Given the description of an element on the screen output the (x, y) to click on. 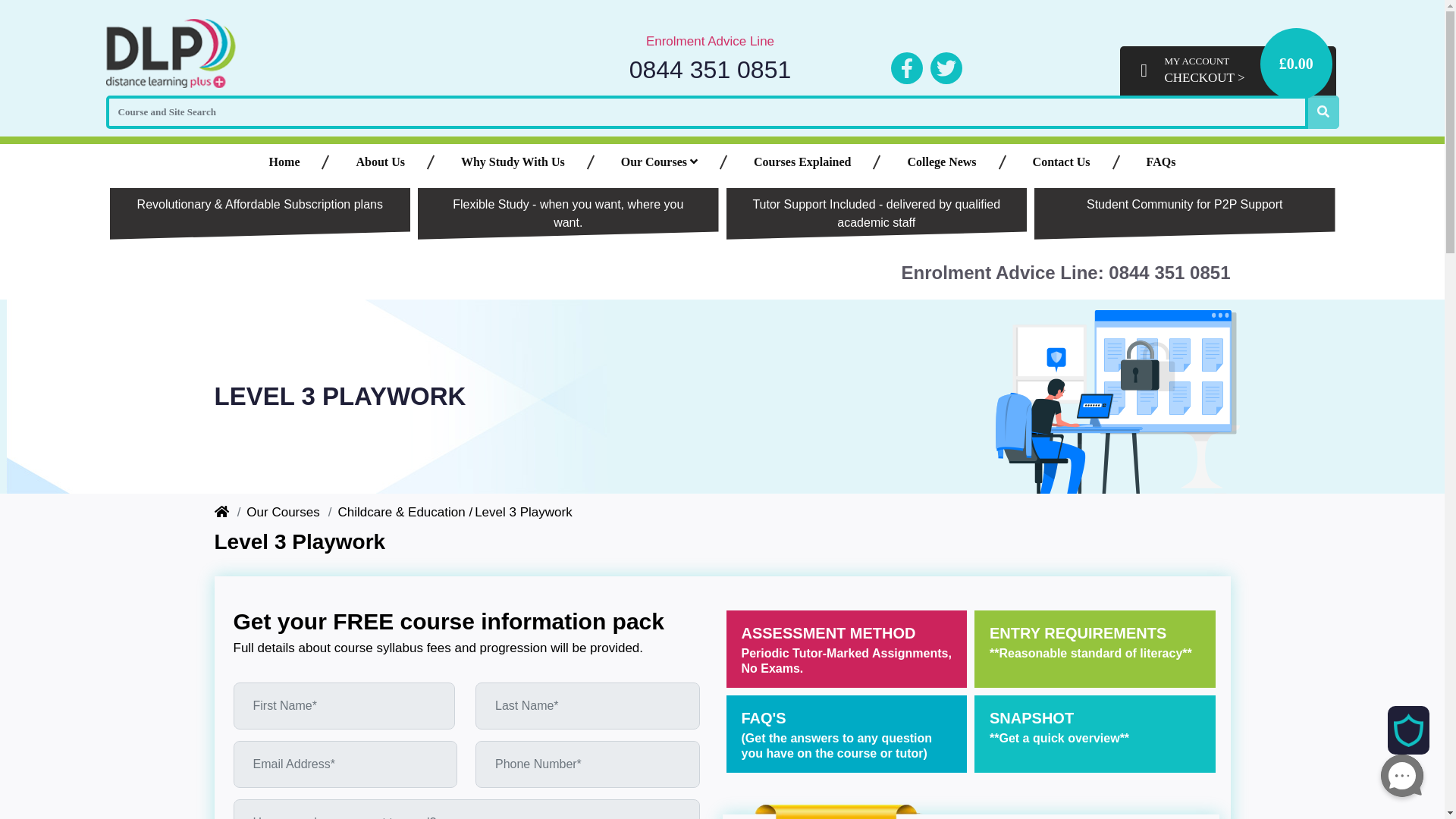
Search (1323, 111)
About Us (379, 162)
Our Courses (659, 162)
Why Study With Us (512, 162)
0844 351 0851 (710, 69)
Home (284, 162)
